Given the description of an element on the screen output the (x, y) to click on. 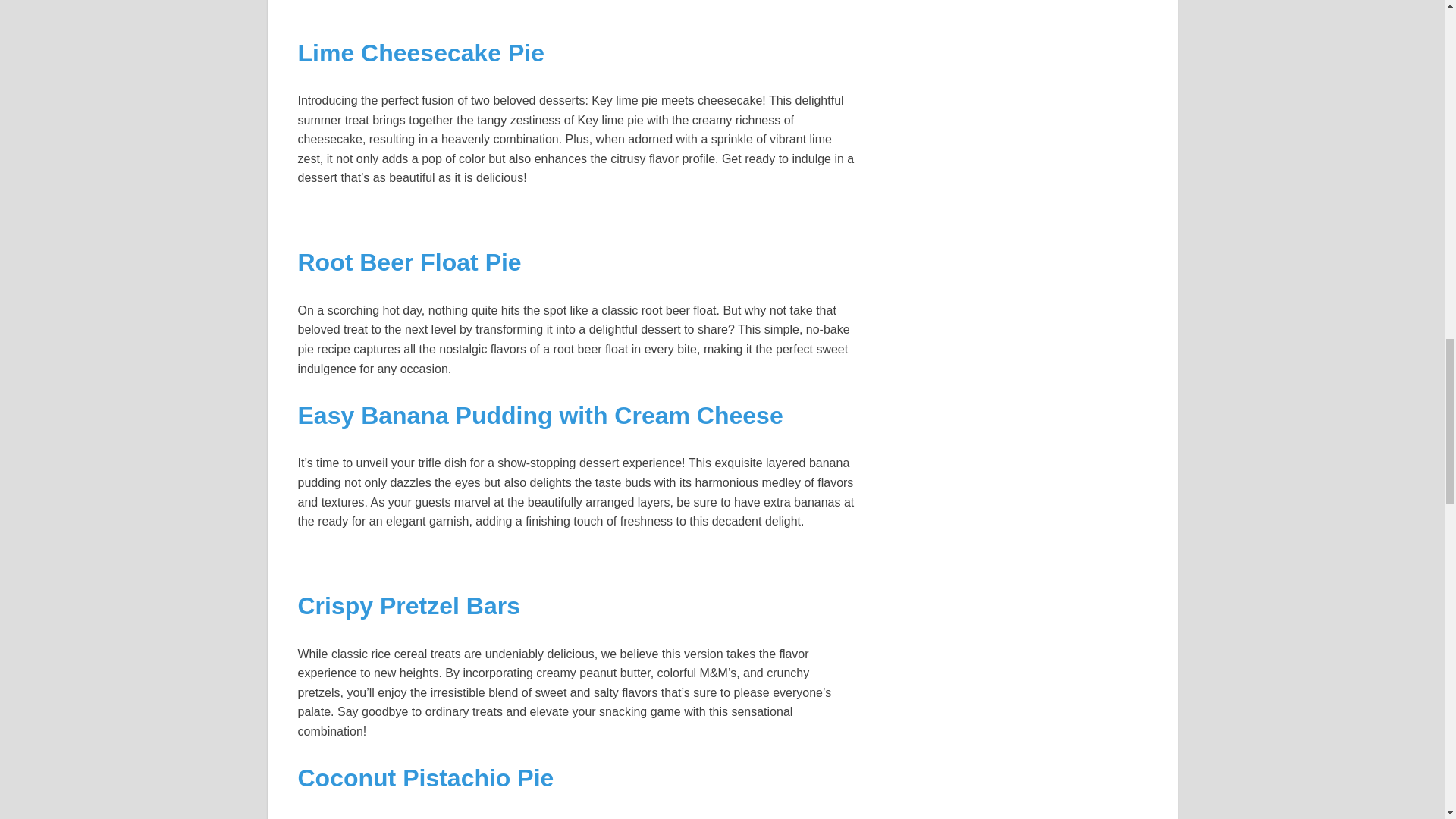
Crispy Pretzel Bars (408, 605)
Easy Banana Pudding with Cream Cheese (540, 415)
Root Beer Float Pie (409, 262)
Lime Cheesecake Pie (420, 52)
Coconut Pistachio Pie (425, 777)
